Given the description of an element on the screen output the (x, y) to click on. 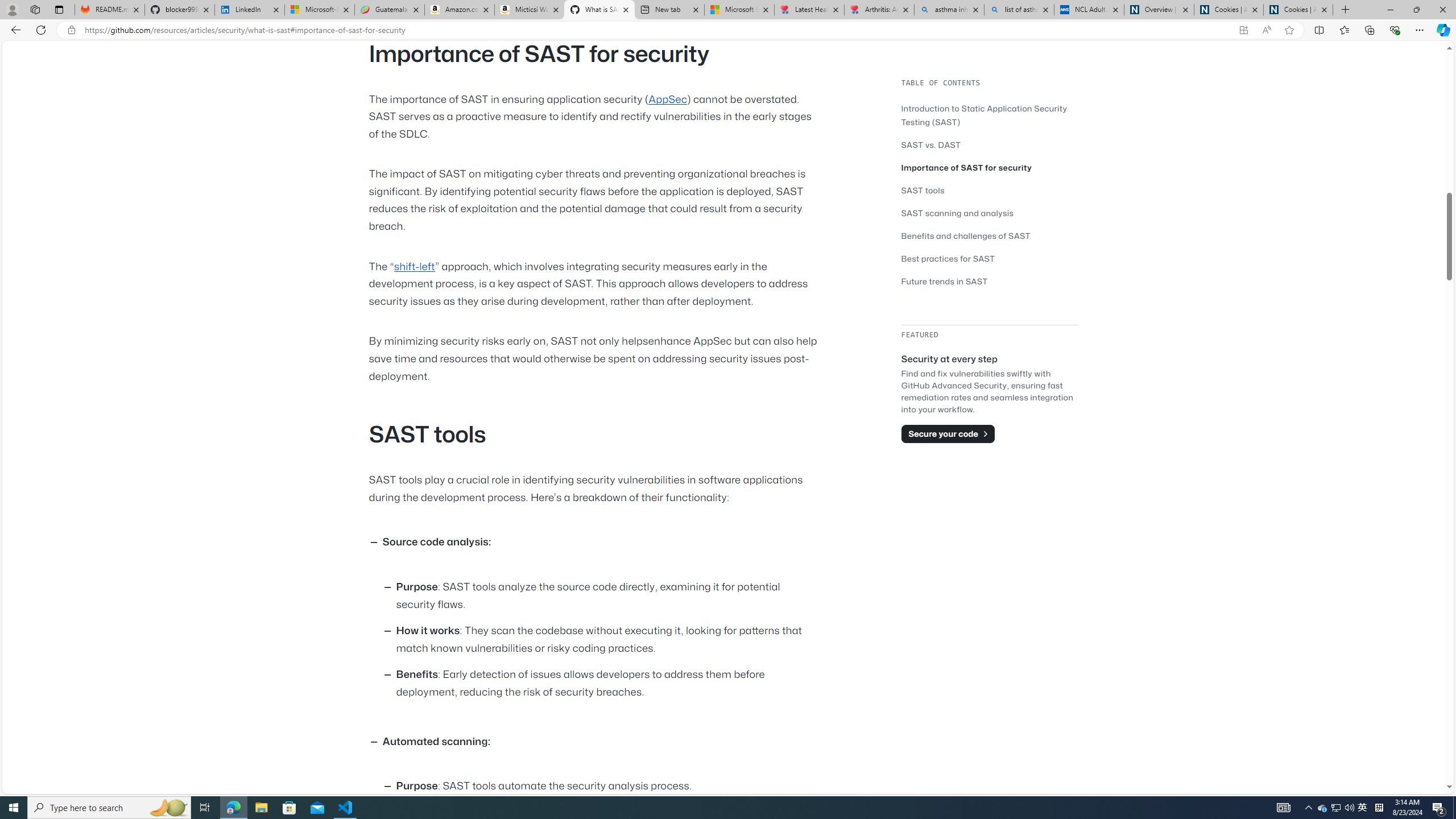
asthma inhaler - Search (949, 9)
Importance of SAST for security (966, 166)
Future trends in SAST (944, 280)
SAST vs. DAST (989, 144)
